Given the description of an element on the screen output the (x, y) to click on. 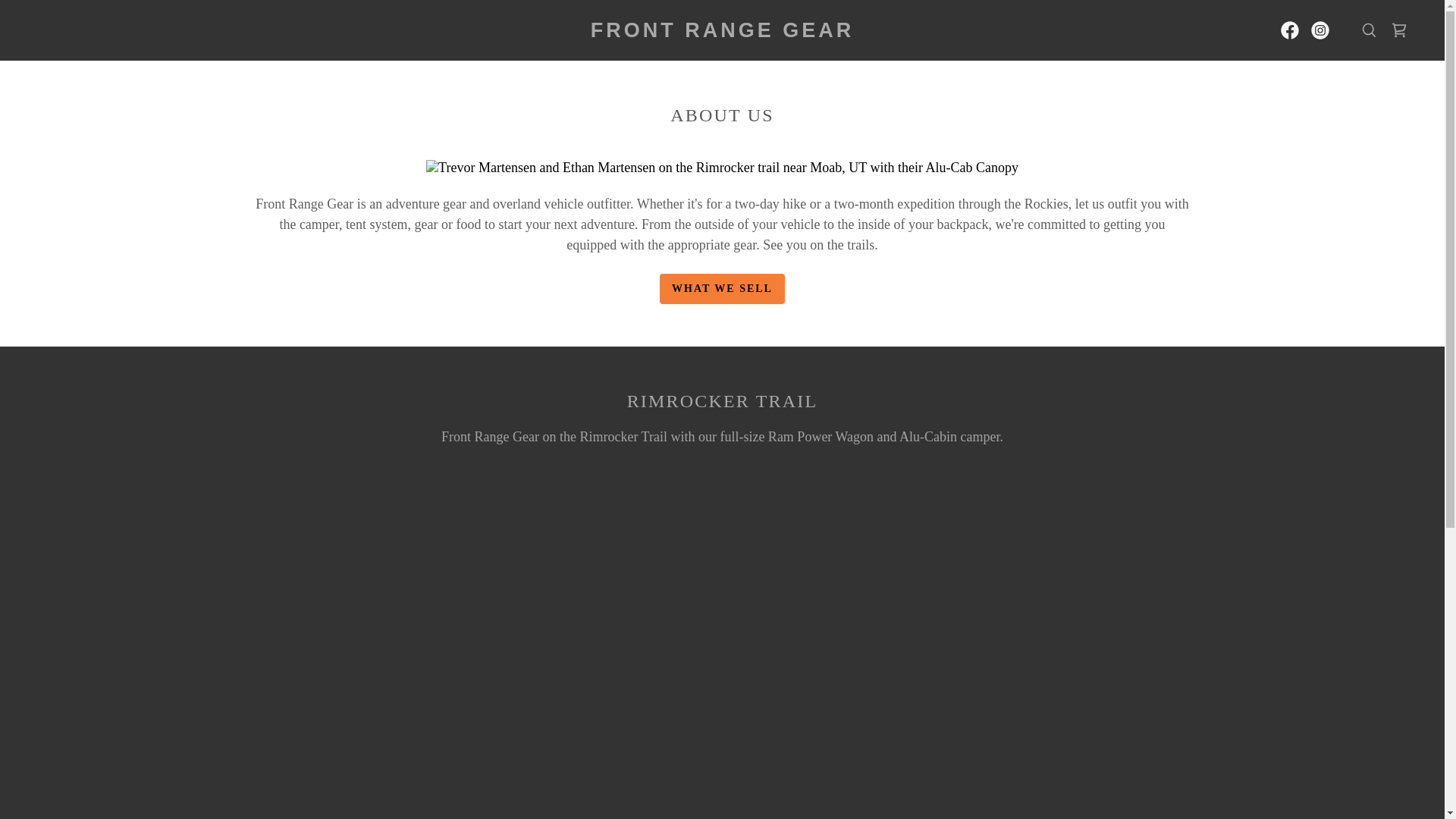
Front Range Gear (722, 32)
FRONT RANGE GEAR (722, 32)
WHAT WE SELL (721, 288)
